Given the description of an element on the screen output the (x, y) to click on. 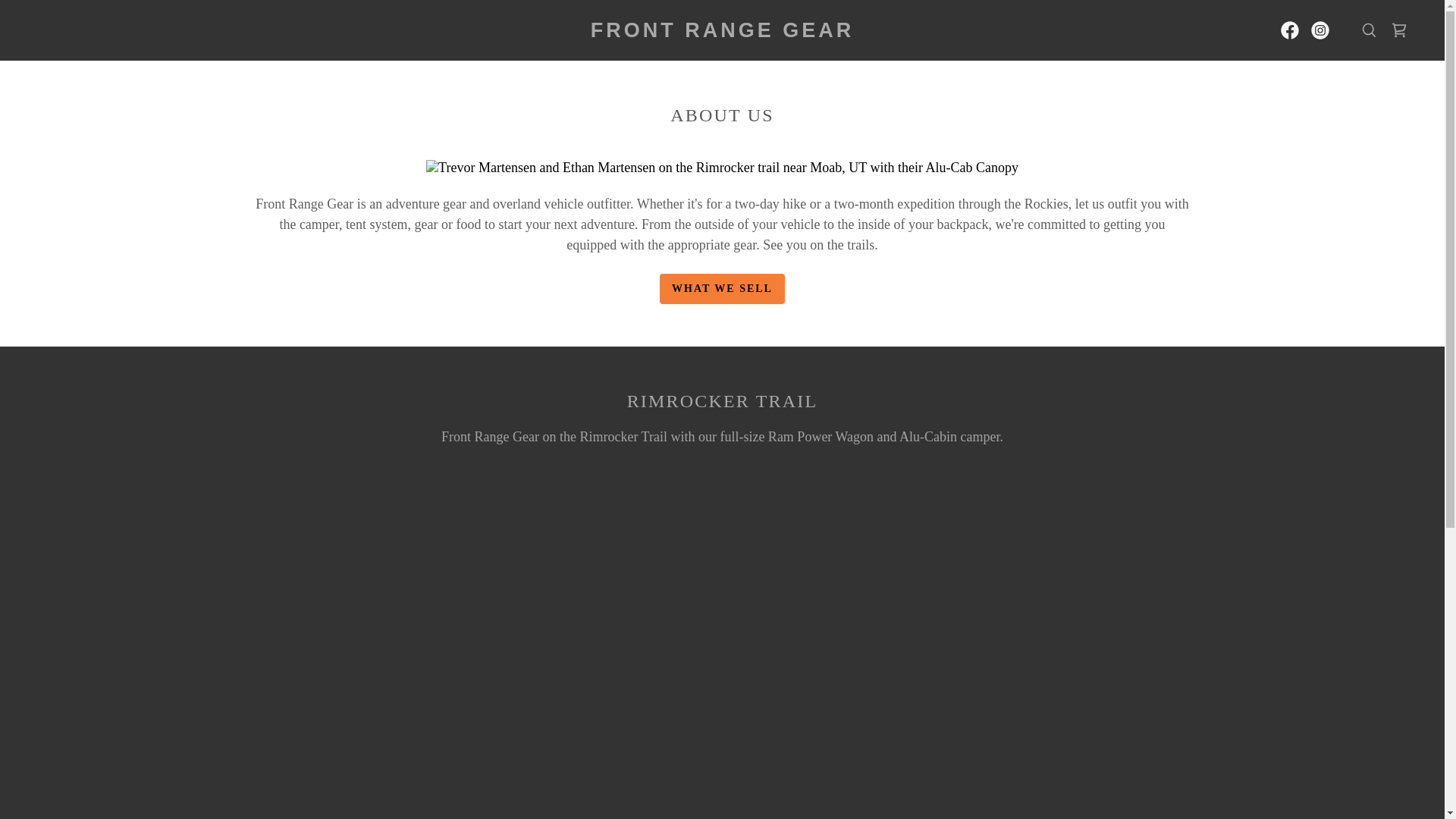
Front Range Gear (722, 32)
FRONT RANGE GEAR (722, 32)
WHAT WE SELL (721, 288)
